Given the description of an element on the screen output the (x, y) to click on. 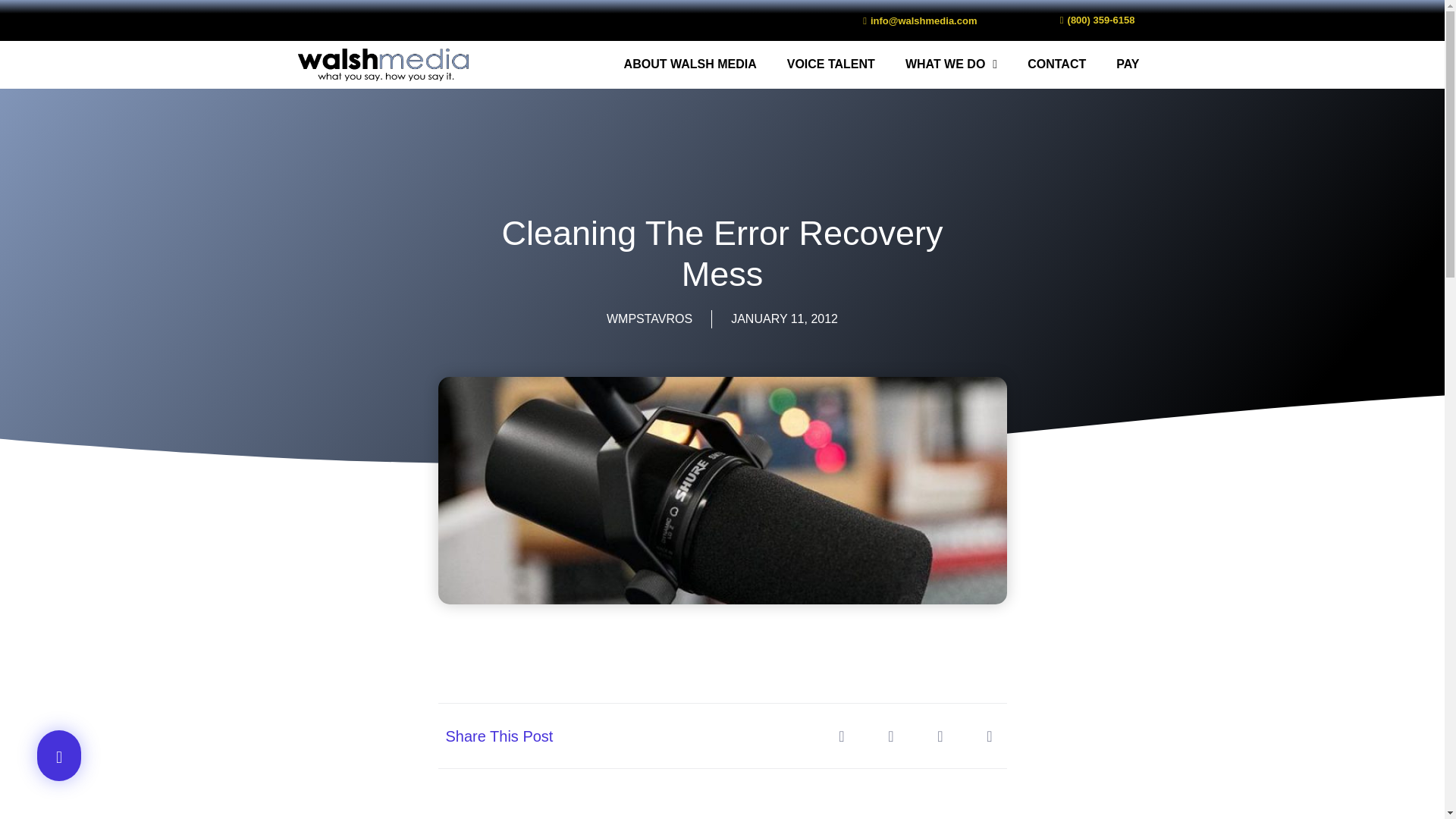
PAY (1127, 63)
JANUARY 11, 2012 (784, 319)
CONTACT (1055, 63)
VOICE TALENT (830, 63)
WMPSTAVROS (650, 319)
WHAT WE DO (950, 63)
ABOUT WALSH MEDIA (689, 63)
